Given the description of an element on the screen output the (x, y) to click on. 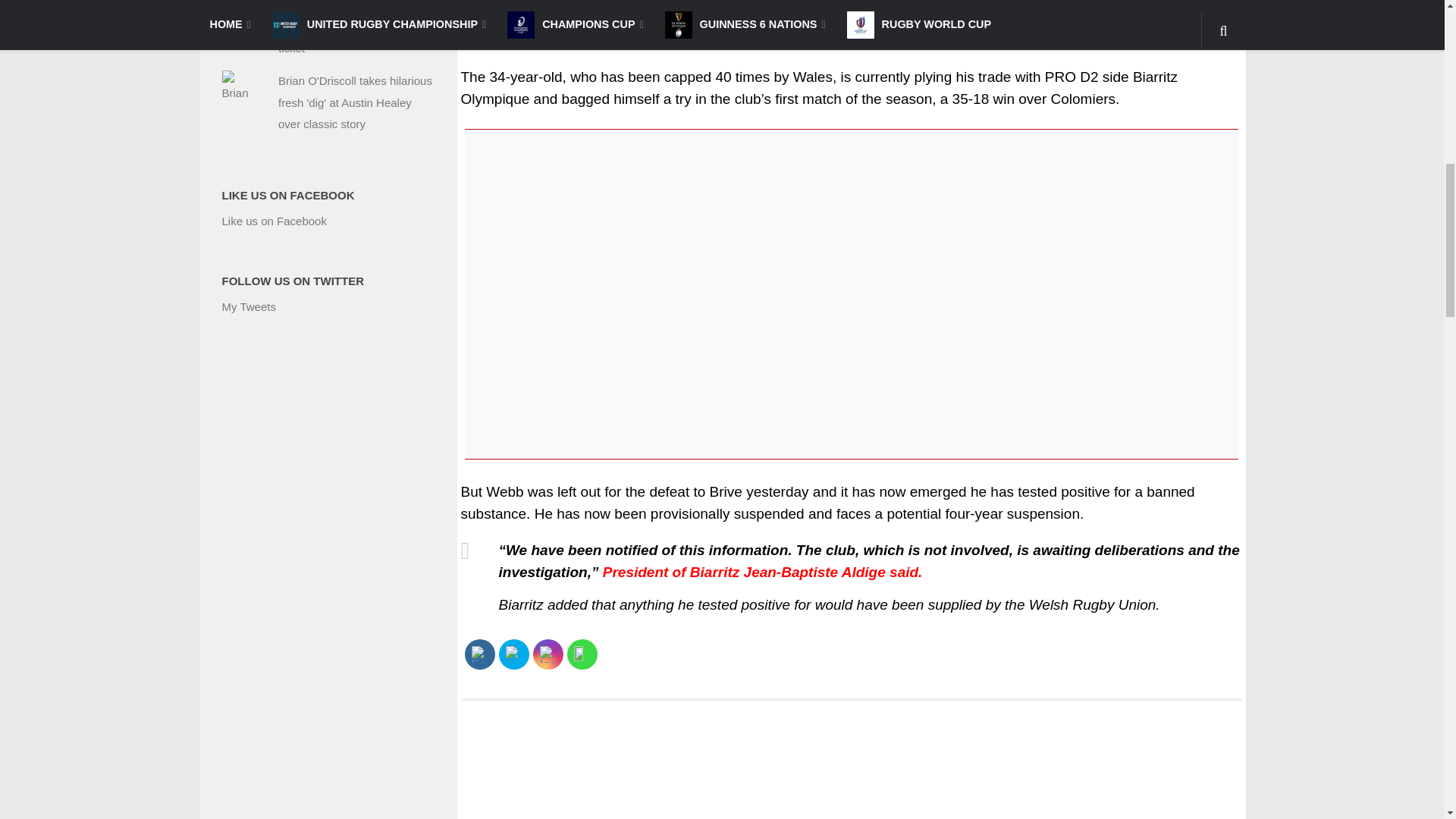
Instagram (548, 654)
Facebook (479, 654)
Twitter (513, 654)
